Given the description of an element on the screen output the (x, y) to click on. 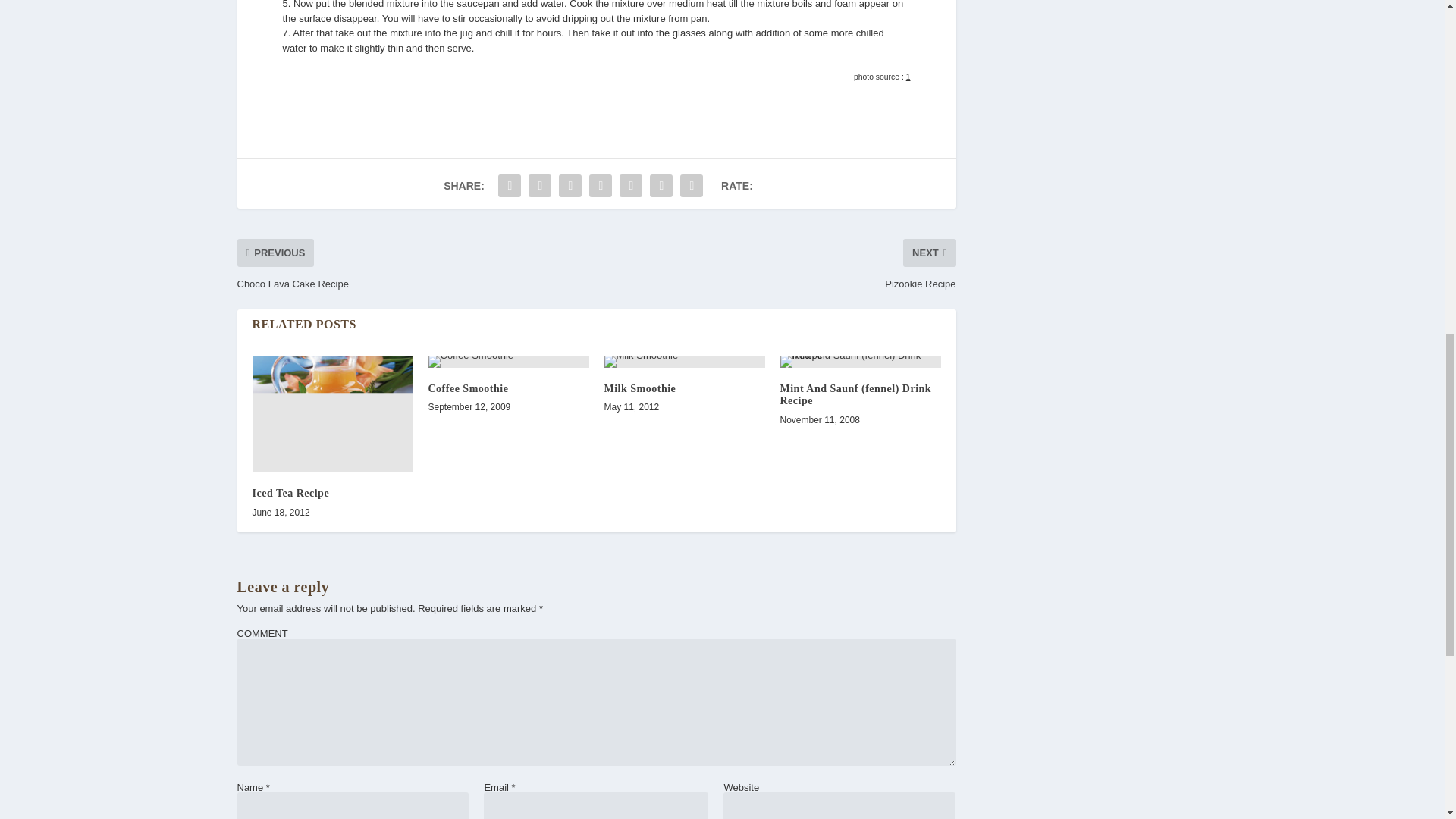
Milk Smoothie (684, 361)
Share "Aam Panna Recipe" via Print (691, 185)
Share "Aam Panna Recipe" via Email (661, 185)
Coffee Smoothie (508, 361)
Share "Aam Panna Recipe" via Facebook (509, 185)
Share "Aam Panna Recipe" via Pinterest (600, 185)
Share "Aam Panna Recipe" via Stumbleupon (630, 185)
Share "Aam Panna Recipe" via Twitter (539, 185)
Iced Tea Recipe (331, 413)
